Given the description of an element on the screen output the (x, y) to click on. 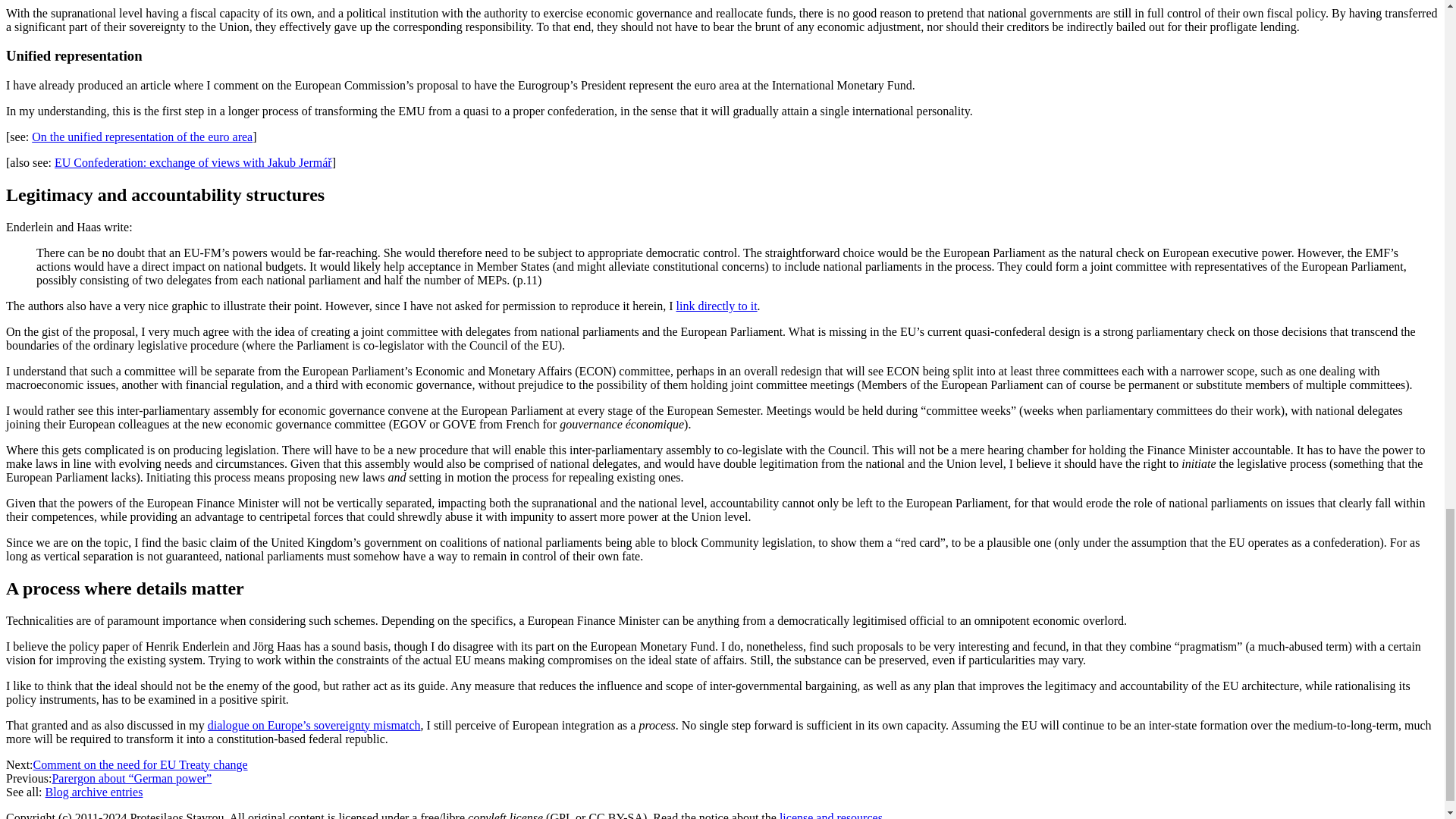
link directly to it (717, 305)
Blog archive entries (93, 791)
On the unified representation of the euro area (141, 136)
Comment on the need for EU Treaty change (140, 764)
